Given the description of an element on the screen output the (x, y) to click on. 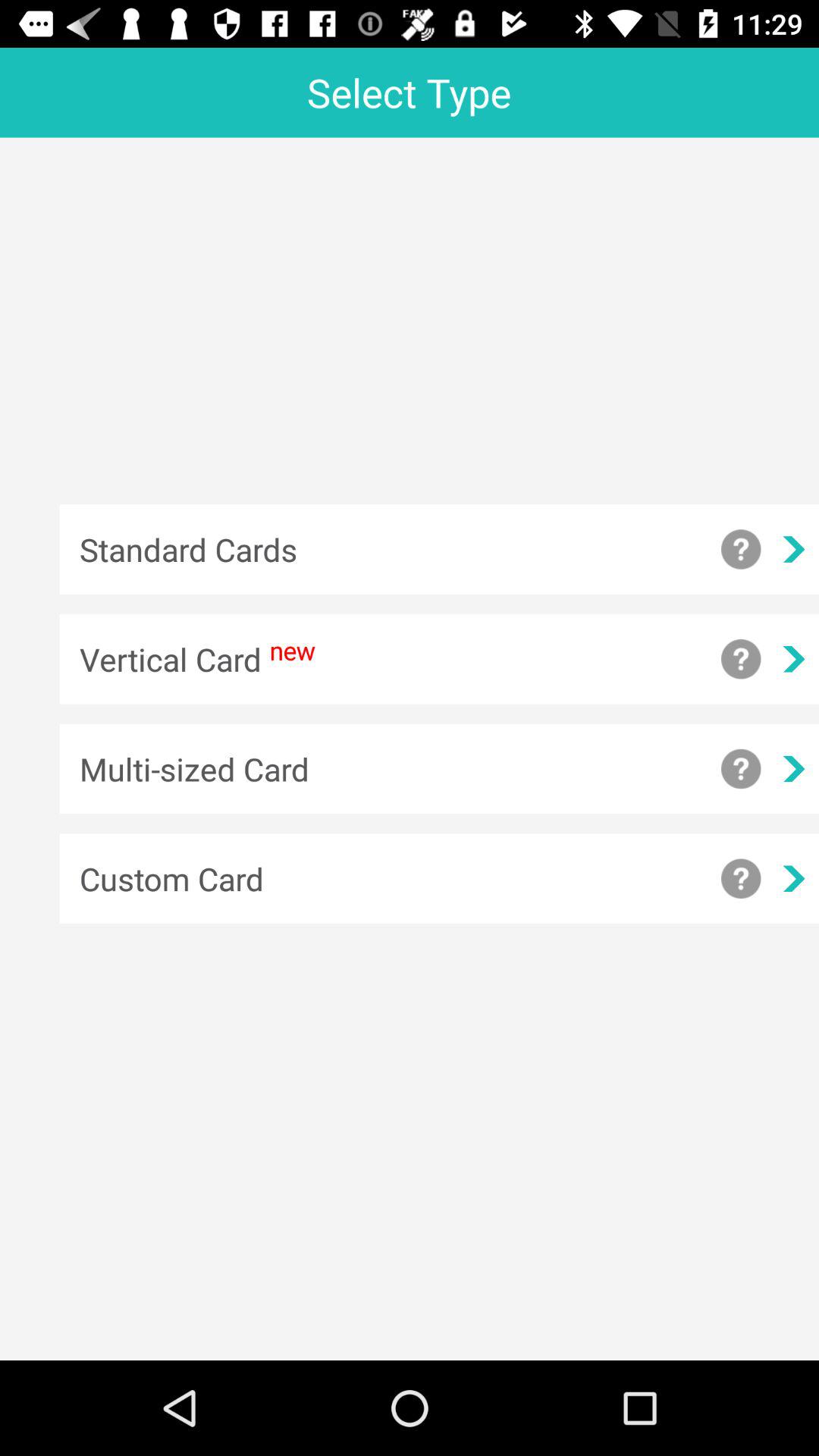
display custom card information (740, 878)
